Given the description of an element on the screen output the (x, y) to click on. 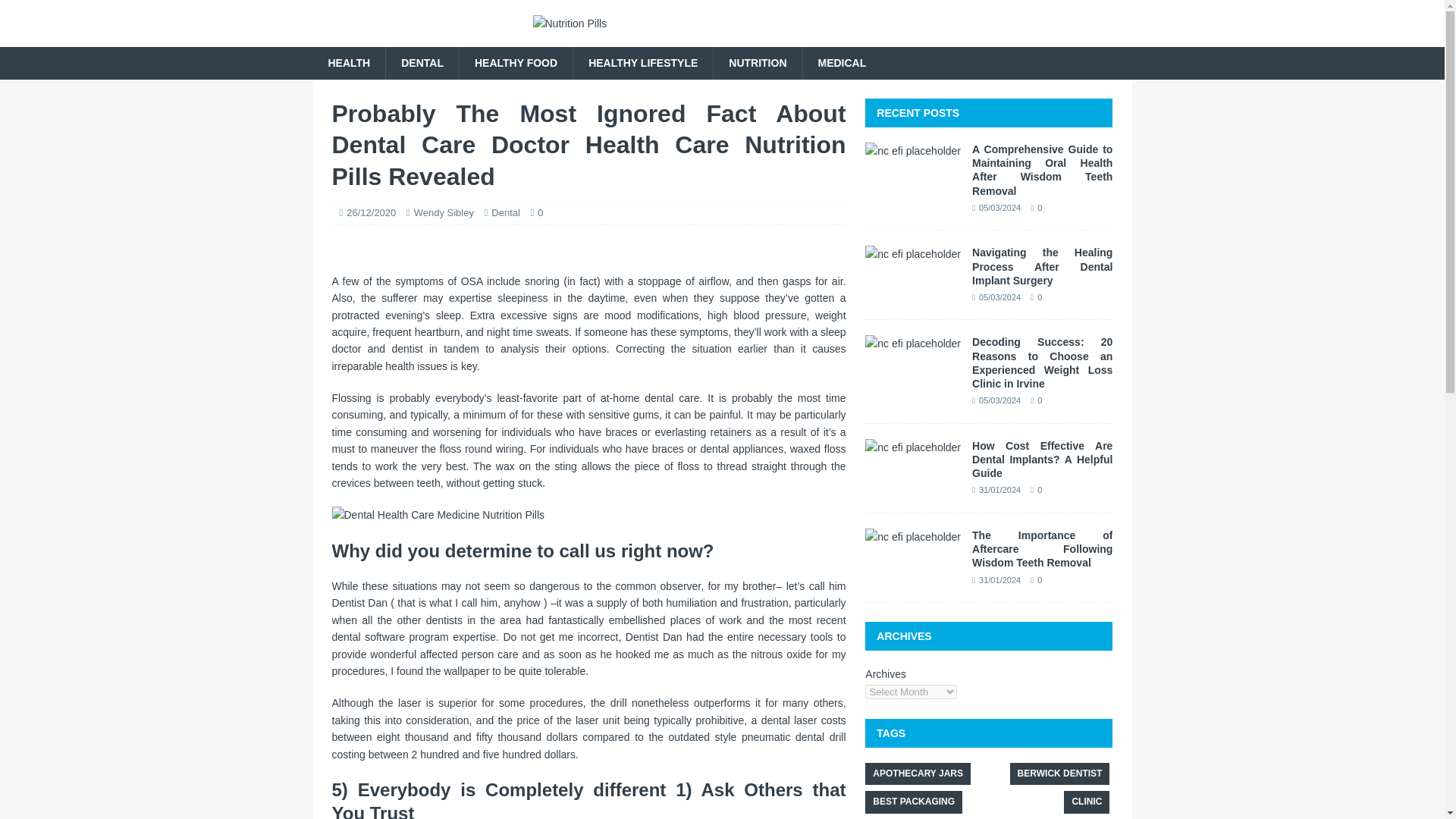
BEST PACKAGING (913, 802)
MEDICAL (842, 62)
The Importance of Aftercare Following Wisdom Teeth Removal (1042, 548)
HEALTHY LIFESTYLE (642, 62)
How Cost Effective Are Dental Implants? A Helpful Guide (1042, 459)
HEALTH (349, 62)
HEALTHY FOOD (515, 62)
How Cost Effective Are Dental Implants? A Helpful Guide (912, 447)
